Given the description of an element on the screen output the (x, y) to click on. 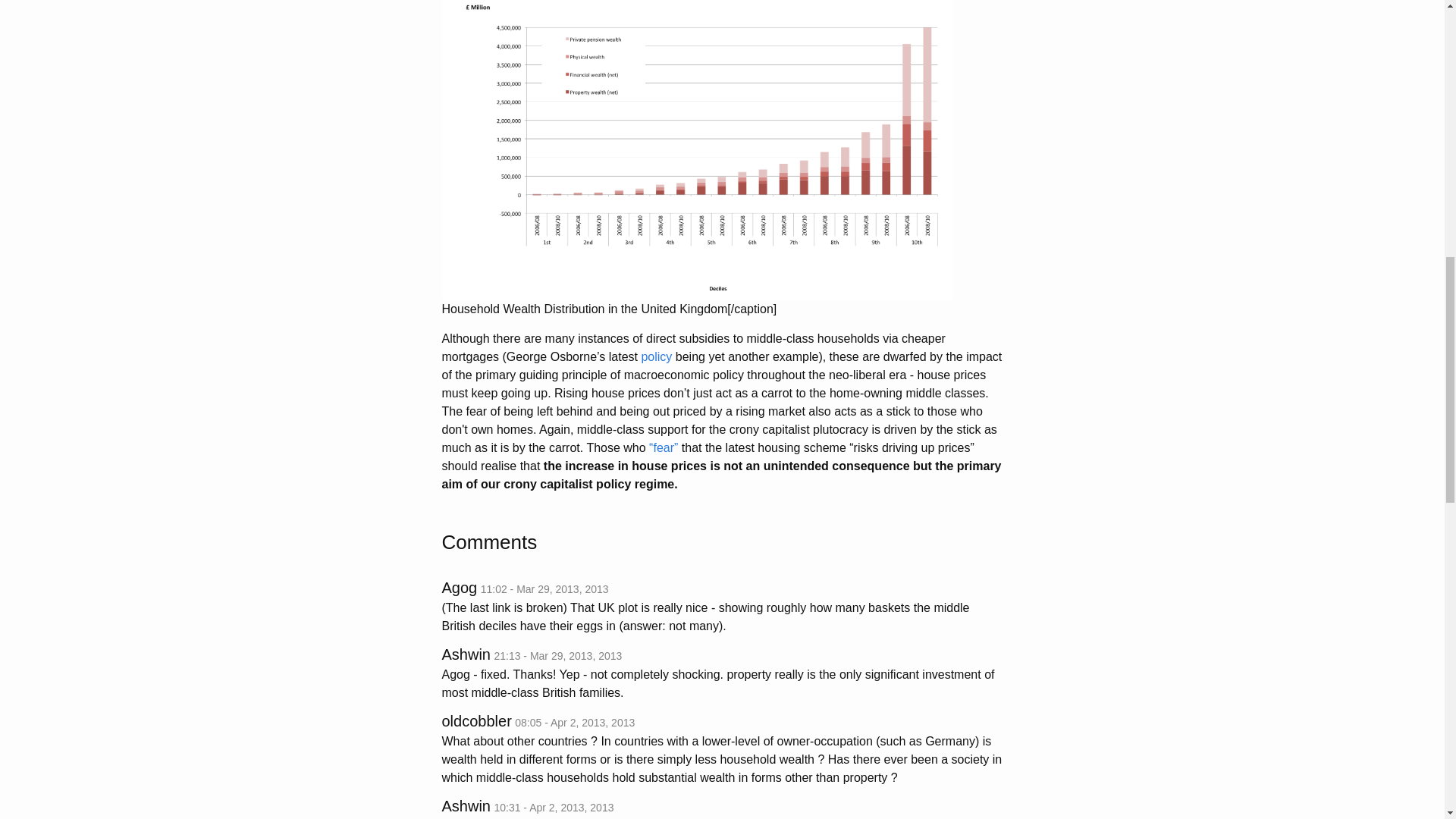
policy (655, 356)
